Given the description of an element on the screen output the (x, y) to click on. 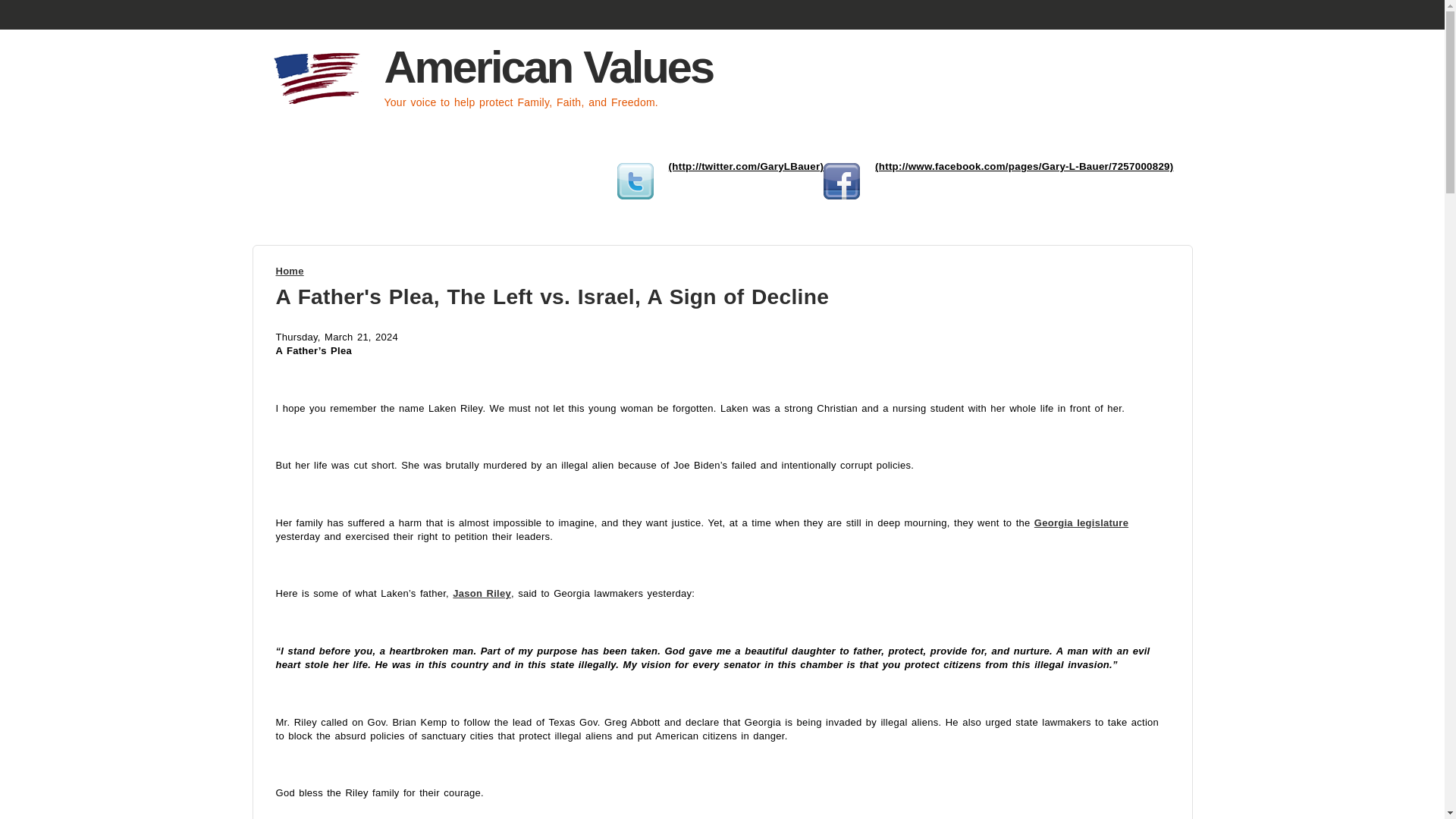
Home (290, 270)
Visit GaryLBauer on Twitter (746, 165)
Georgia legislature (1080, 522)
American Values (548, 66)
Home page (548, 66)
Jason Riley (481, 593)
A Father's Plea, The Left vs. Israel, A Sign of Decline (552, 296)
Home page (321, 104)
